Given the description of an element on the screen output the (x, y) to click on. 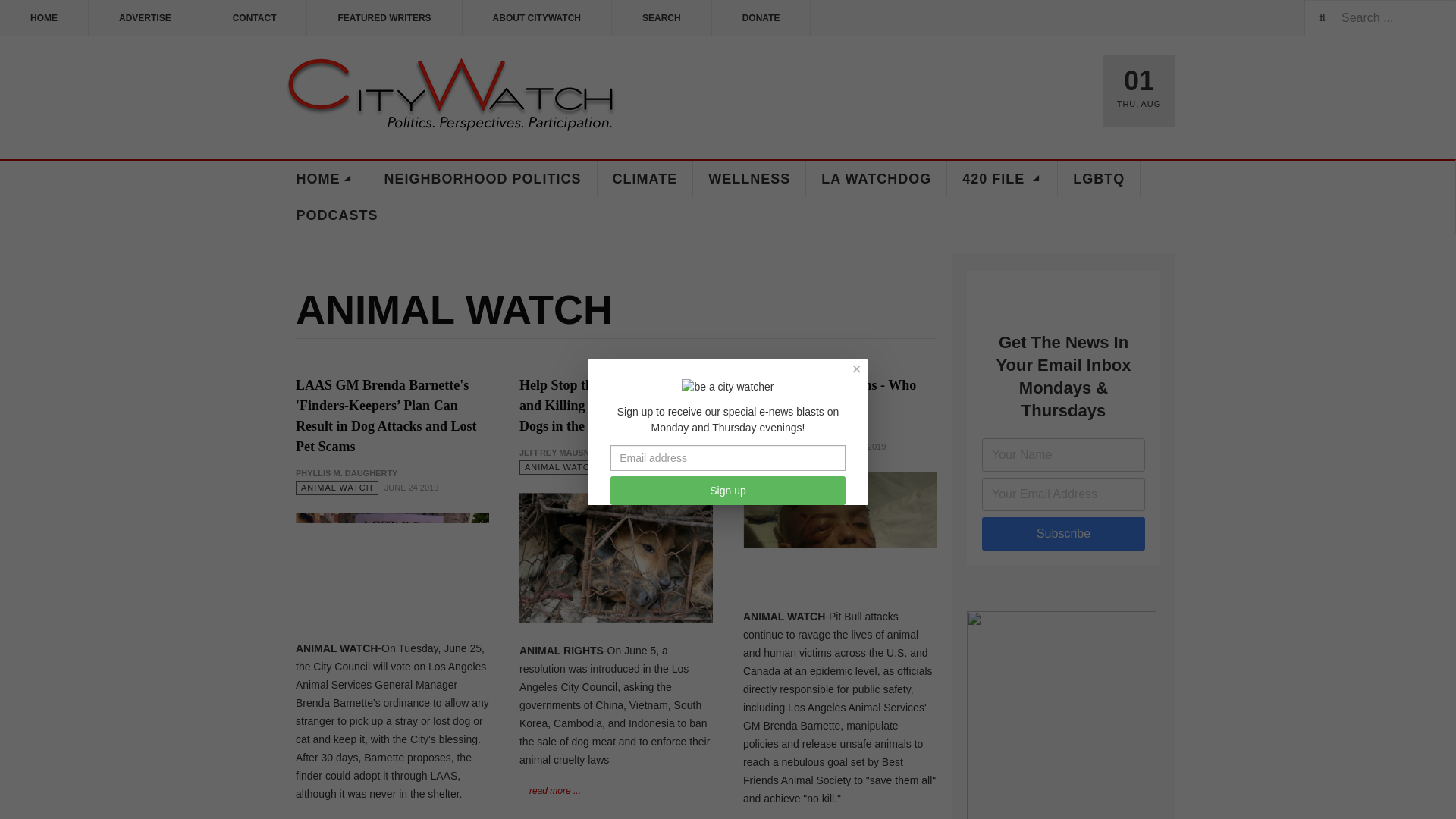
Pit Bull Attack Victims - Who Speaks for Them? (828, 395)
Category:  (783, 446)
ADVERTISE (145, 18)
DONATE (760, 18)
HOME (44, 18)
LA WATCHDOG (876, 178)
PODCASTS (337, 215)
LGBTQ (1099, 178)
NEIGHBORHOOD POLITICS (482, 178)
WELLNESS (749, 178)
Category:  (336, 487)
CLIMATE (645, 178)
Category:  (560, 467)
420 FILE (1002, 178)
